Given the description of an element on the screen output the (x, y) to click on. 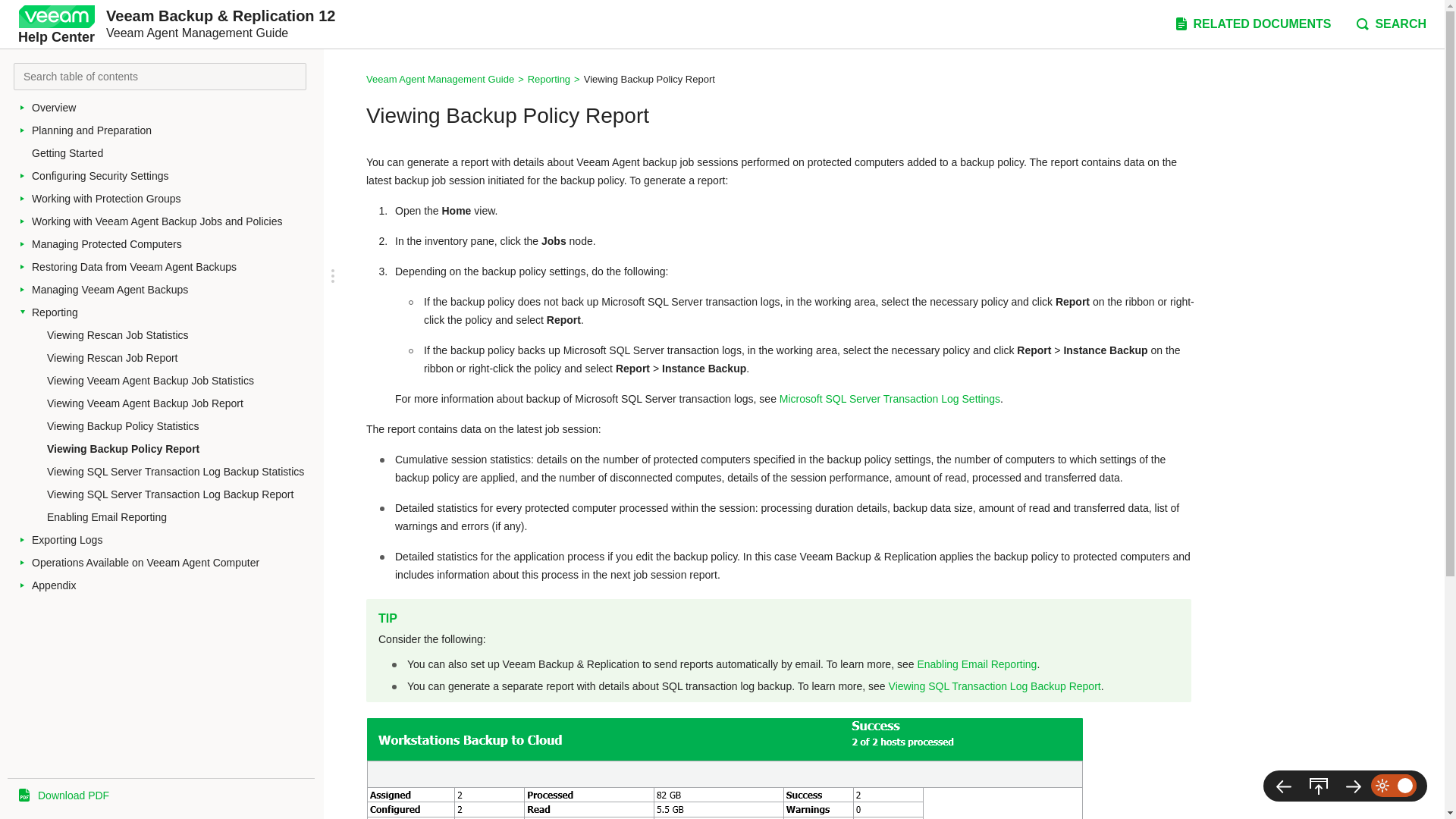
Overview (173, 107)
SEARCH (1390, 24)
Help Center (55, 23)
Overview (173, 107)
RELATED DOCUMENTS (1252, 24)
